Given the description of an element on the screen output the (x, y) to click on. 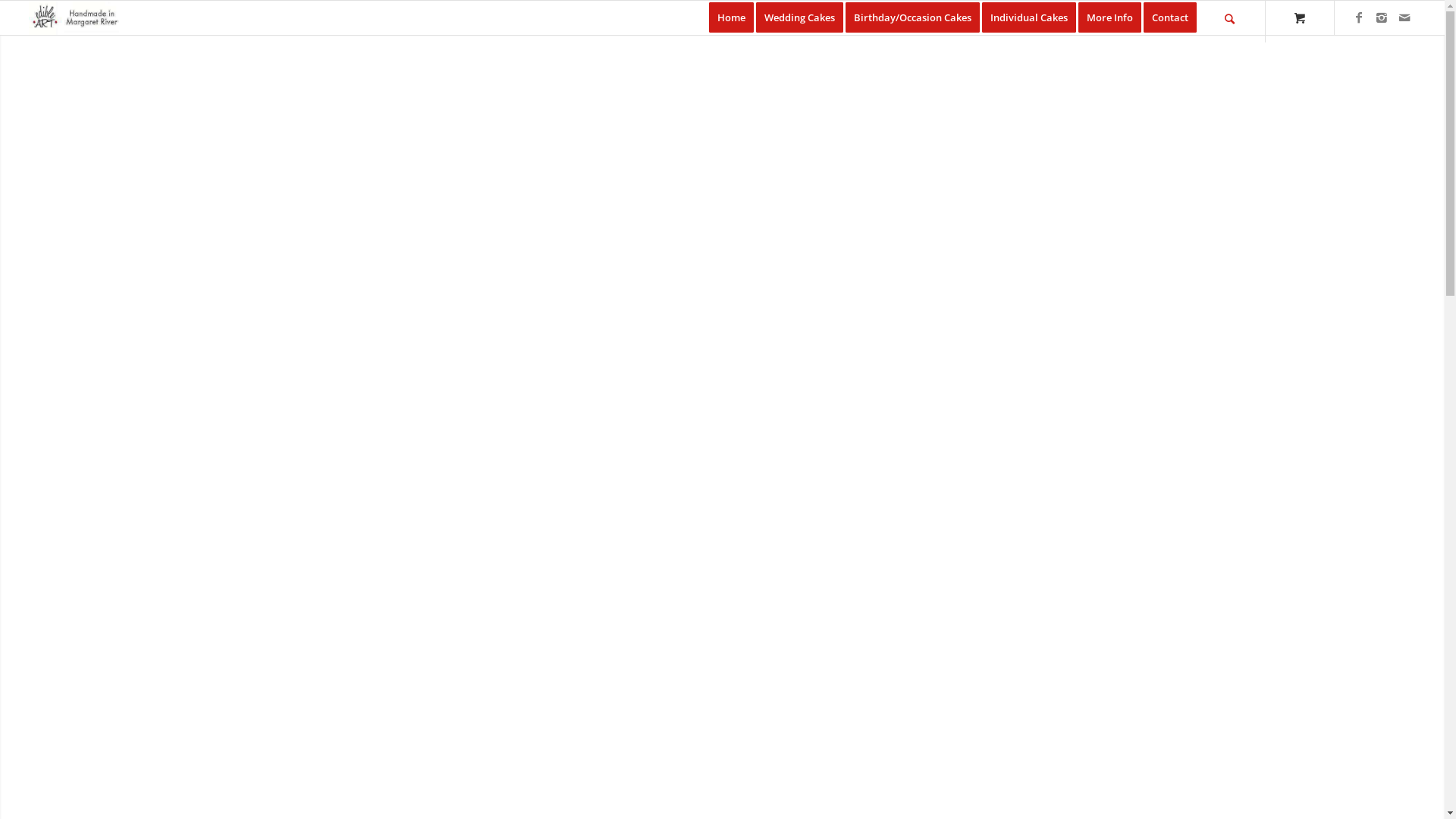
Contact Element type: text (1169, 17)
Mail Element type: hover (1404, 17)
More Info Element type: text (1114, 17)
Instagram Element type: hover (1381, 17)
Wedding Cakes Element type: text (804, 17)
Individual Cakes Element type: text (1033, 17)
Home Element type: text (731, 17)
Facebook Element type: hover (1358, 17)
Birthday/Occasion Cakes Element type: text (917, 17)
